Given the description of an element on the screen output the (x, y) to click on. 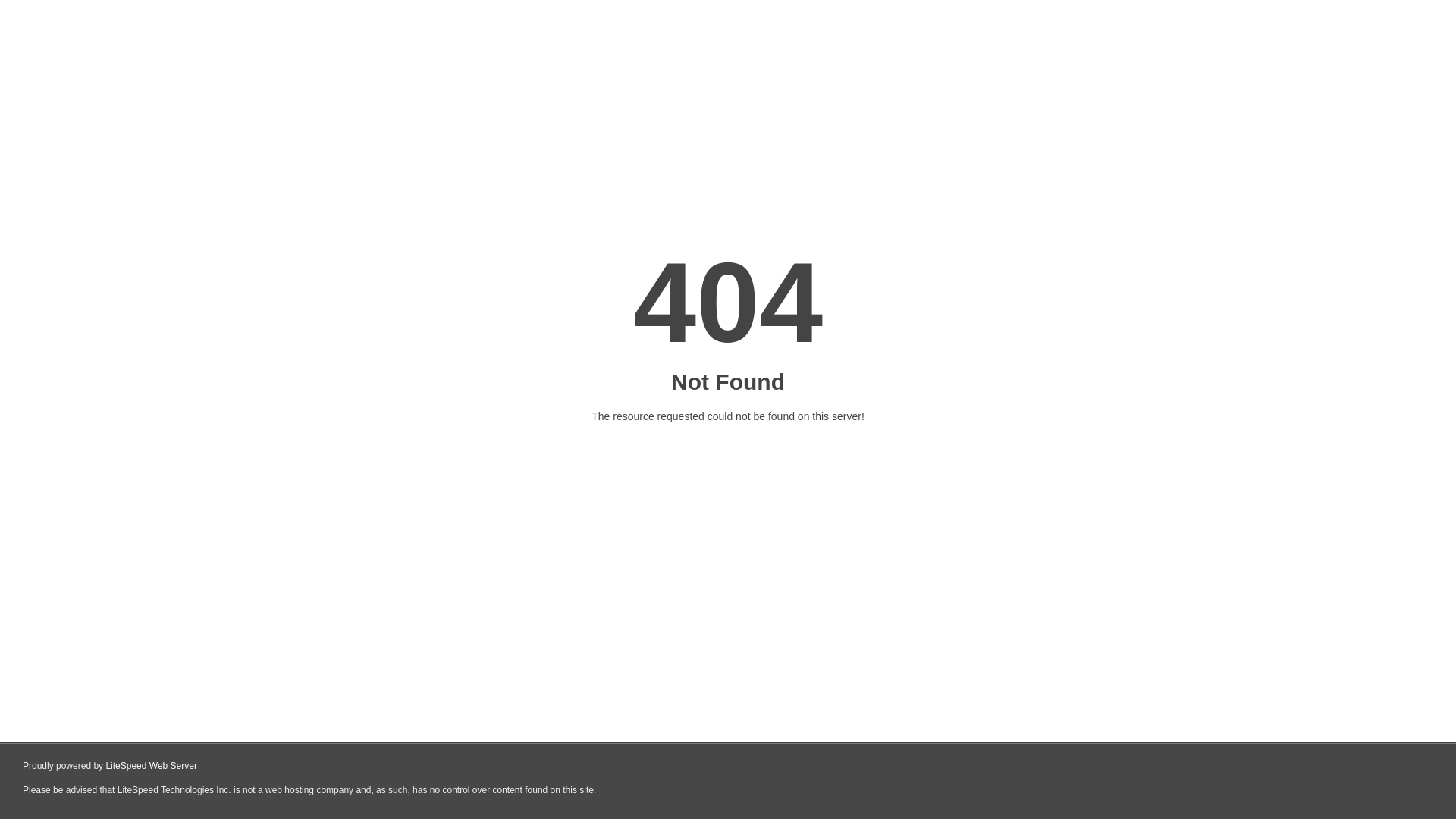
LiteSpeed Web Server Element type: text (151, 765)
